Given the description of an element on the screen output the (x, y) to click on. 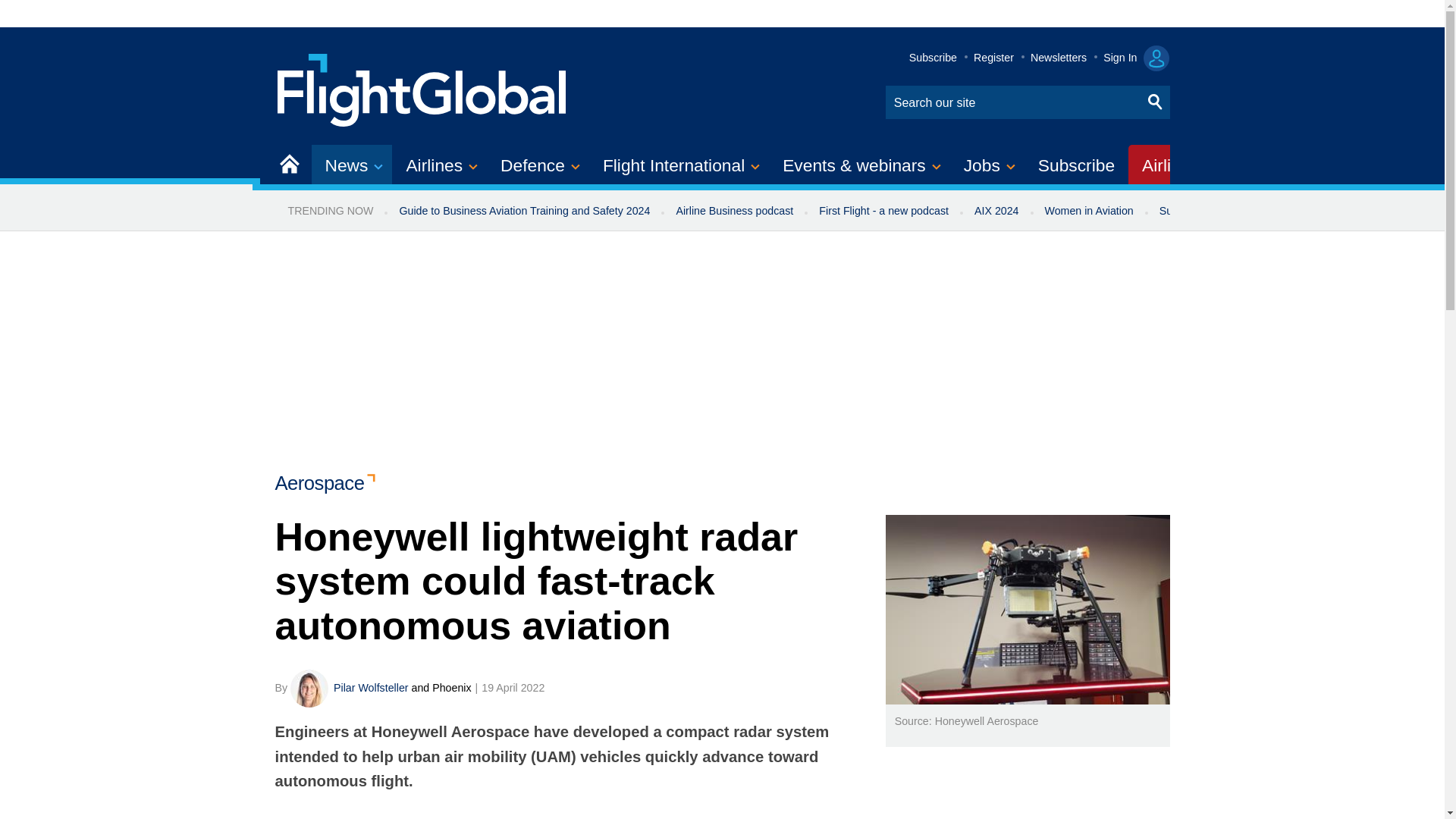
Sustainable Aviation newsletter (1234, 210)
Airline Business podcast (734, 210)
Guide to Business Aviation Training and Safety 2024 (523, 210)
Site name (422, 88)
AIX 2024 (996, 210)
Women in Aviation (1089, 210)
First Flight - a new podcast (883, 210)
